Given the description of an element on the screen output the (x, y) to click on. 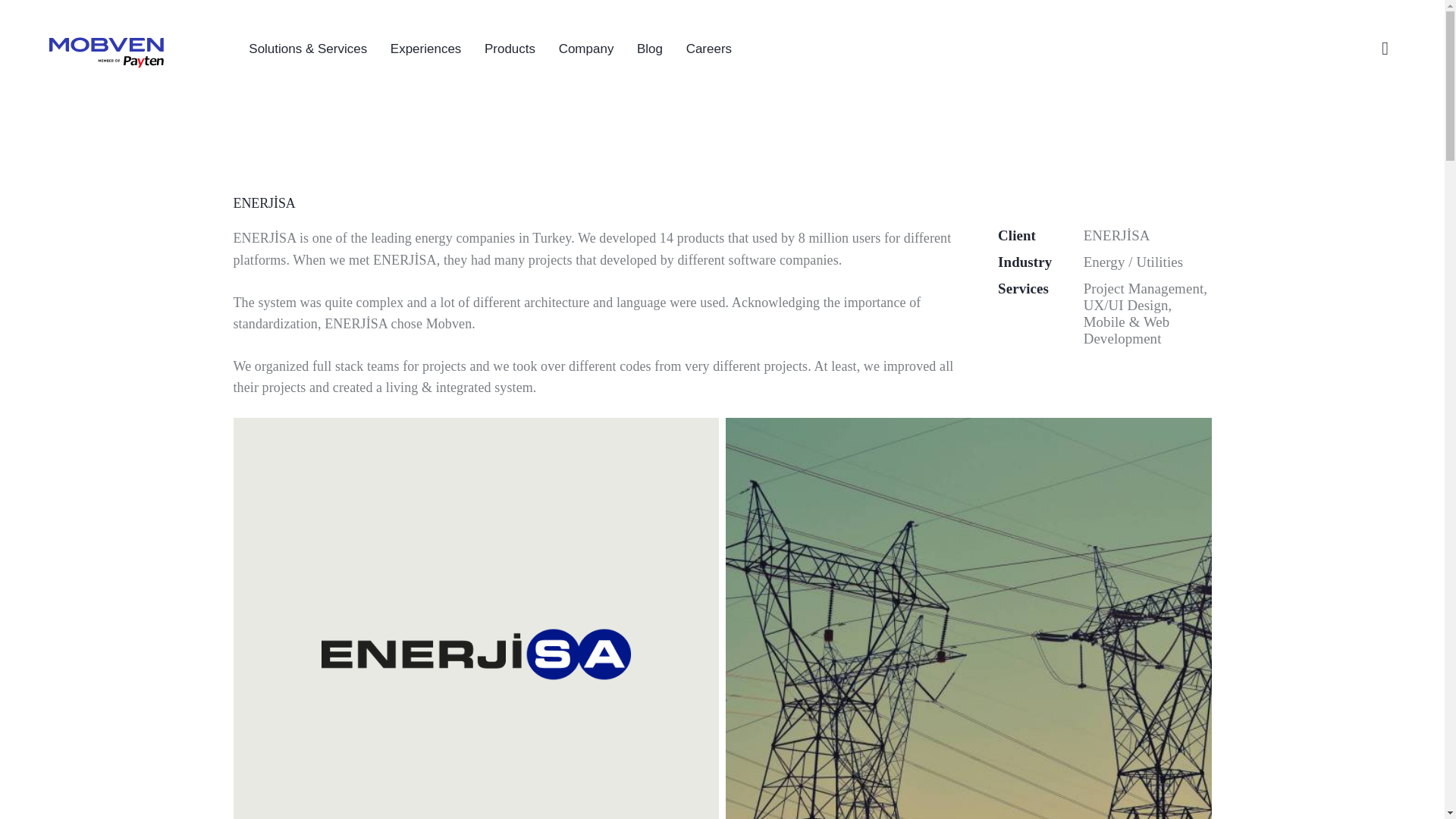
Products (510, 48)
Company (585, 48)
Blog (650, 48)
Experiences (425, 48)
Careers (708, 48)
